Given the description of an element on the screen output the (x, y) to click on. 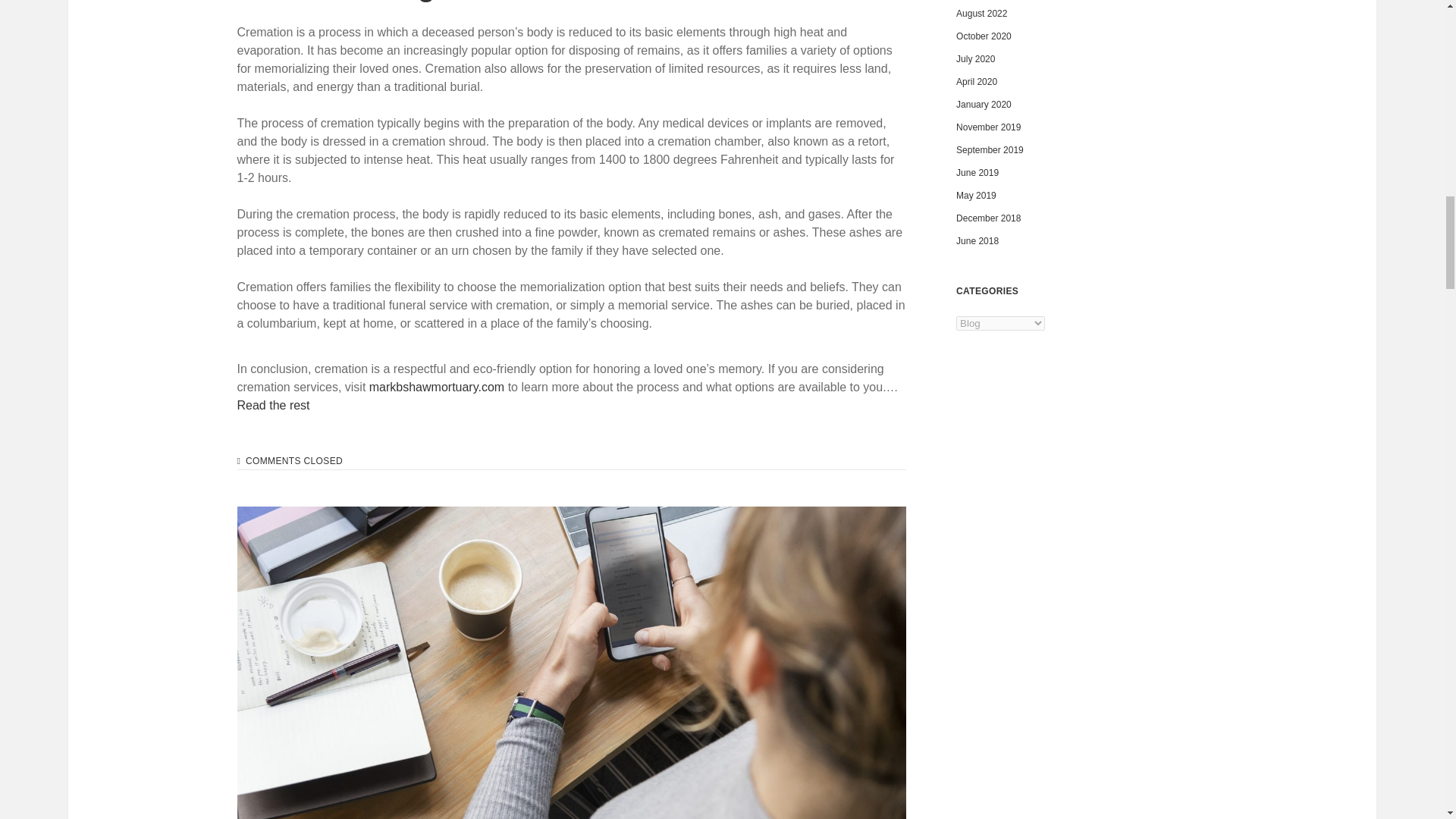
comment icon (237, 461)
Read the rest (271, 404)
markbshawmortuary.com (436, 386)
